Given the description of an element on the screen output the (x, y) to click on. 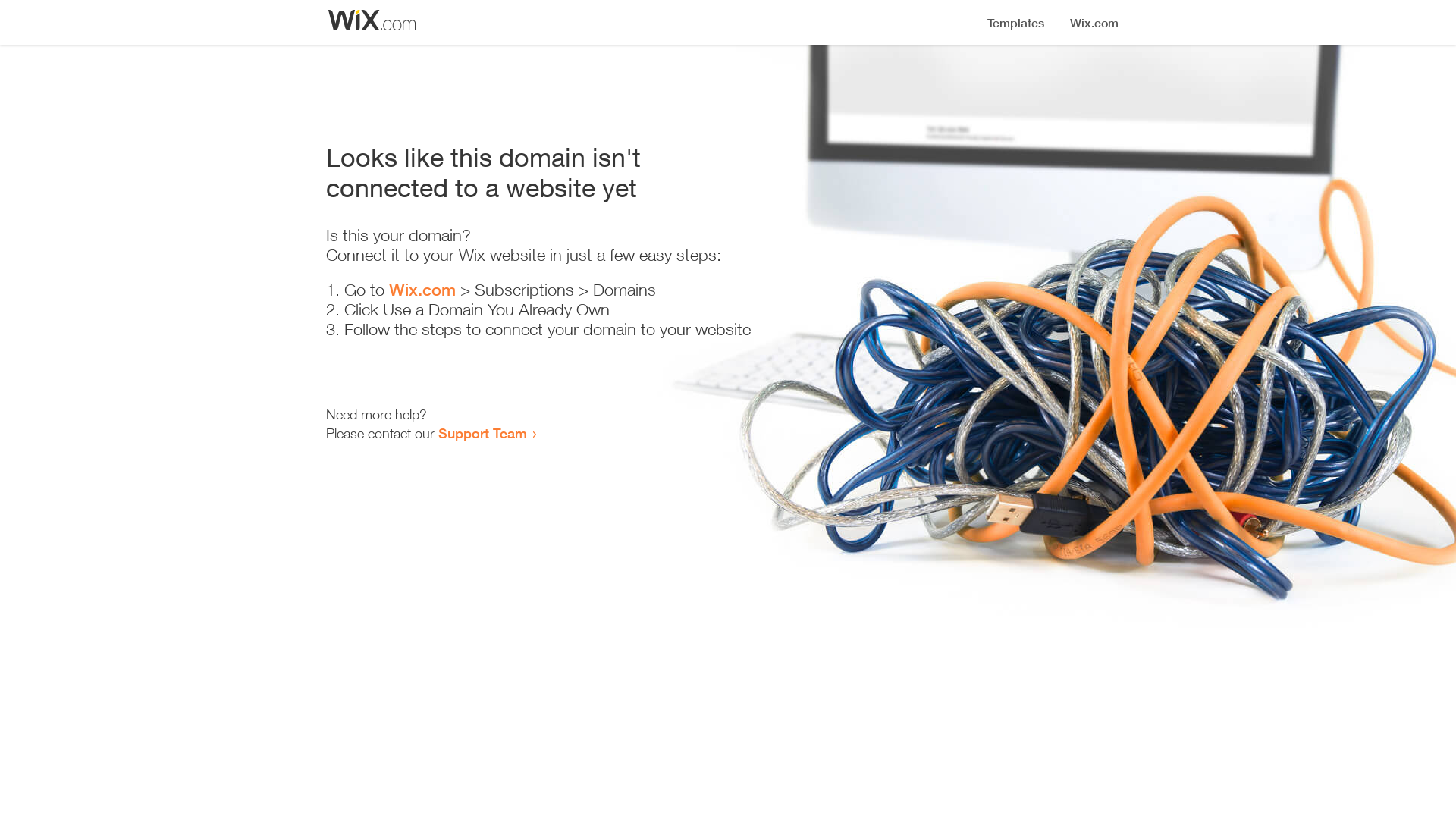
Support Team Element type: text (482, 432)
Wix.com Element type: text (422, 289)
